Given the description of an element on the screen output the (x, y) to click on. 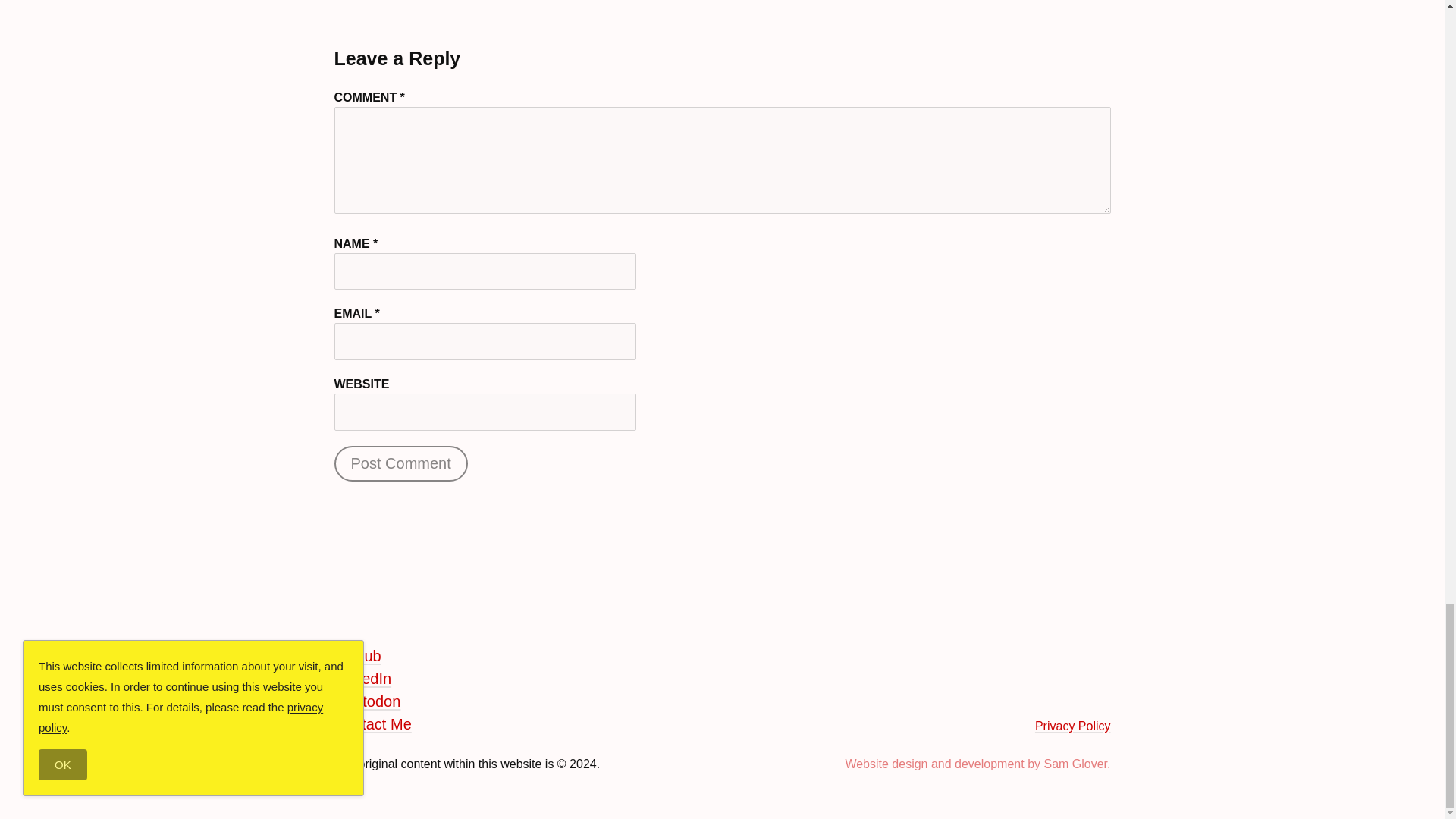
Website design and development by Sam Glover. (976, 763)
Contact Me (371, 723)
Post Comment (400, 463)
Mastodon (366, 701)
Privacy Policy (1072, 725)
Post Comment (400, 463)
GitHub (356, 655)
LinkedIn (362, 678)
